Given the description of an element on the screen output the (x, y) to click on. 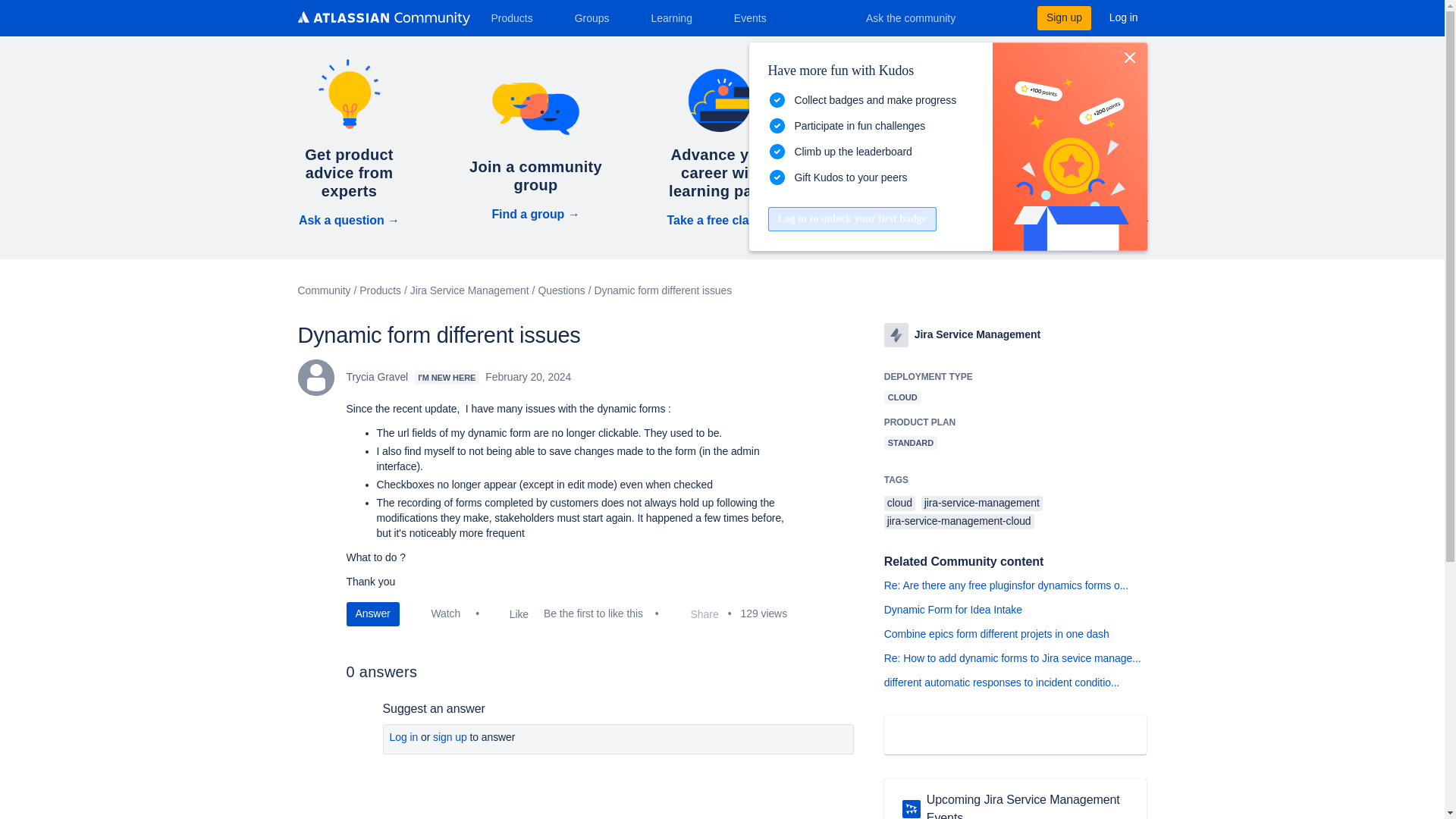
Ask the community  (921, 17)
Sign up (1063, 17)
Groups (598, 17)
Atlassian Community logo (382, 18)
Log in to unlock your first badge (851, 218)
Products (517, 17)
Events (756, 17)
Trycia Gravel (315, 377)
AUG Leaders (911, 809)
Log in (1123, 17)
